Given the description of an element on the screen output the (x, y) to click on. 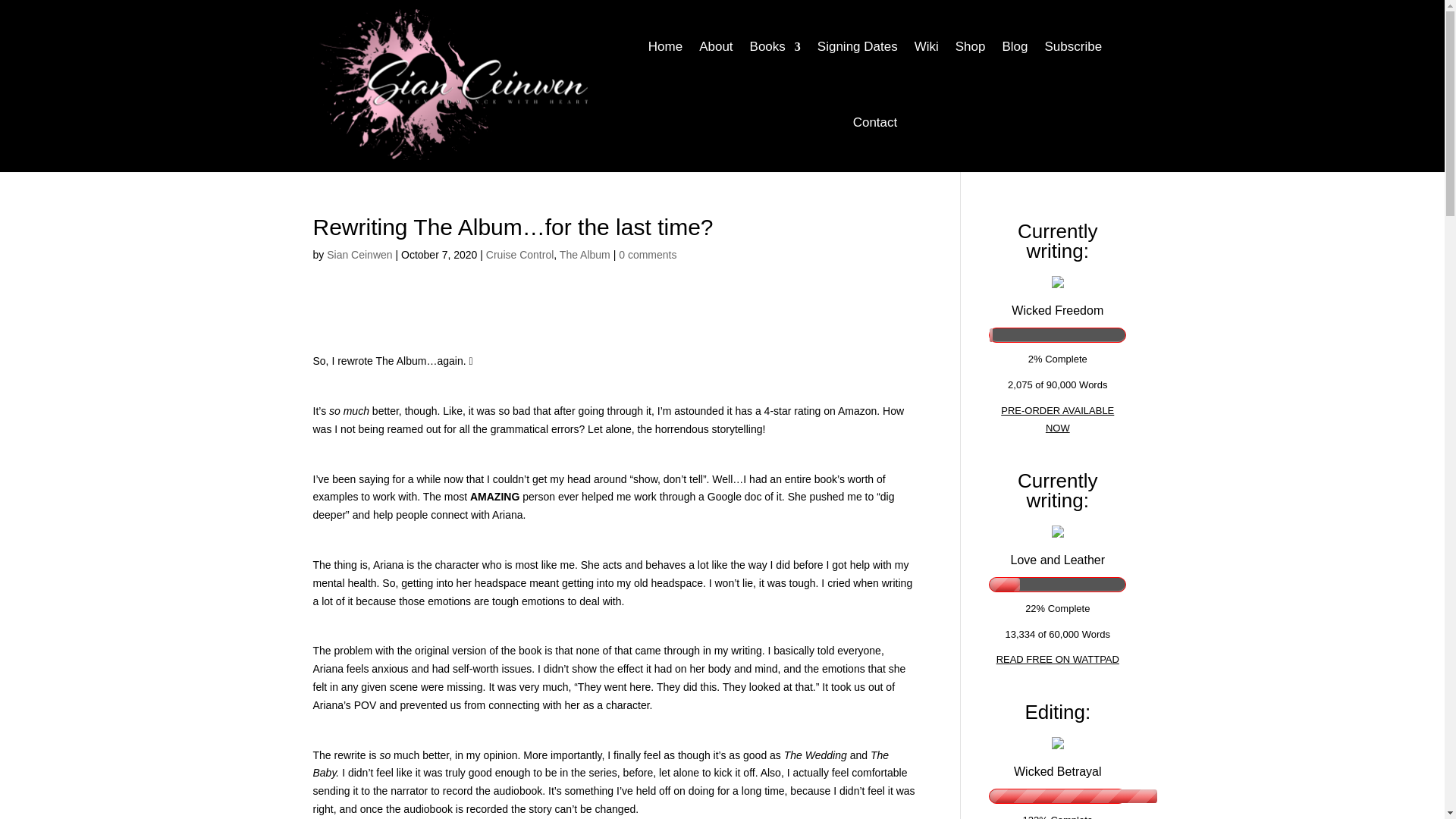
Signing Dates (857, 47)
Posts by Sian Ceinwen (358, 254)
READ FREE ON WATTPAD (1057, 659)
The Album (584, 254)
0 comments (647, 254)
PRE-ORDER AVAILABLE NOW (1057, 419)
Sian Ceinwen (358, 254)
Cruise Control (519, 254)
